Given the description of an element on the screen output the (x, y) to click on. 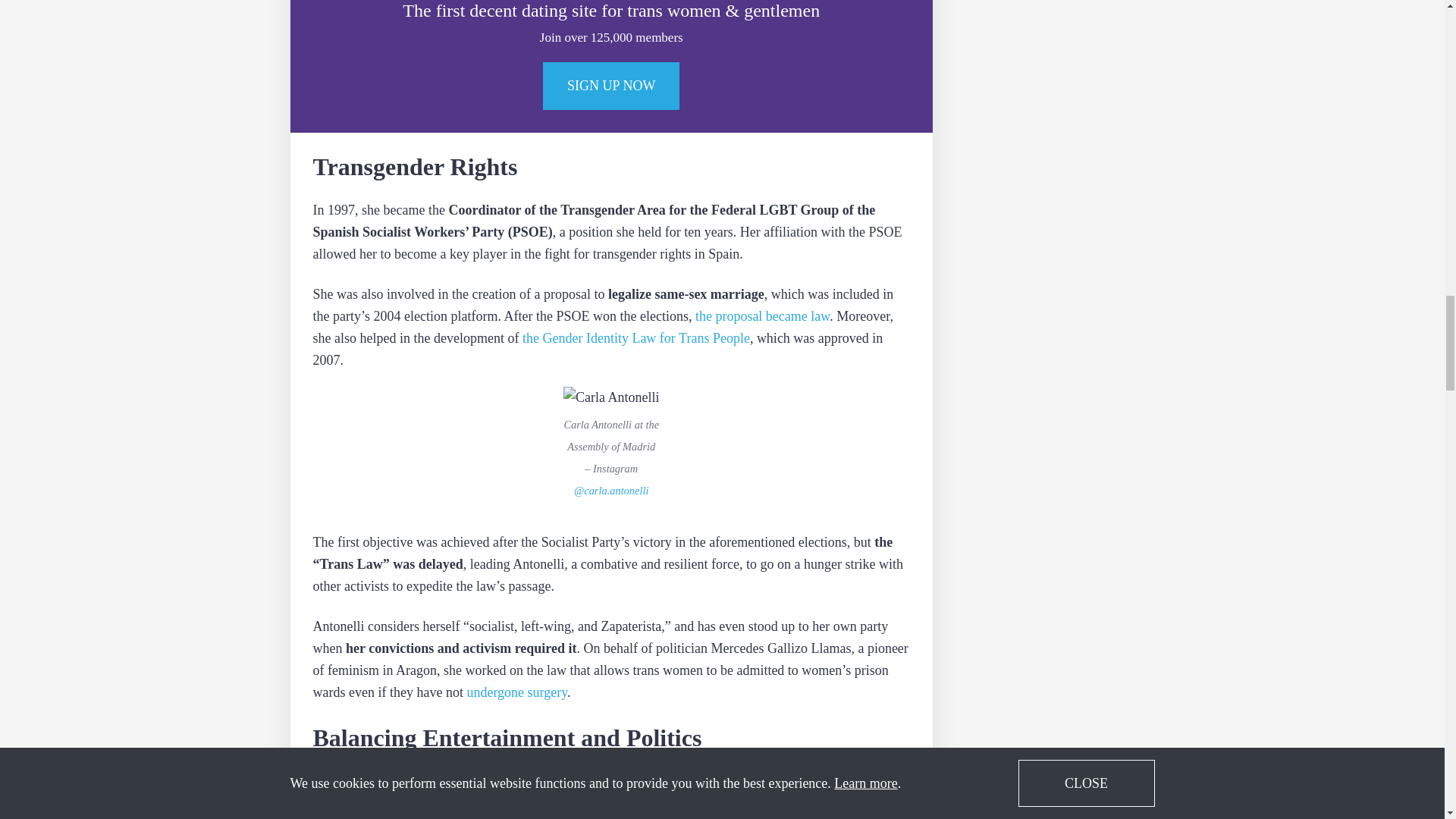
the proposal became law (762, 316)
the Gender Identity Law for Trans People (635, 338)
SIGN UP NOW (611, 85)
undergone surgery (516, 692)
